Given the description of an element on the screen output the (x, y) to click on. 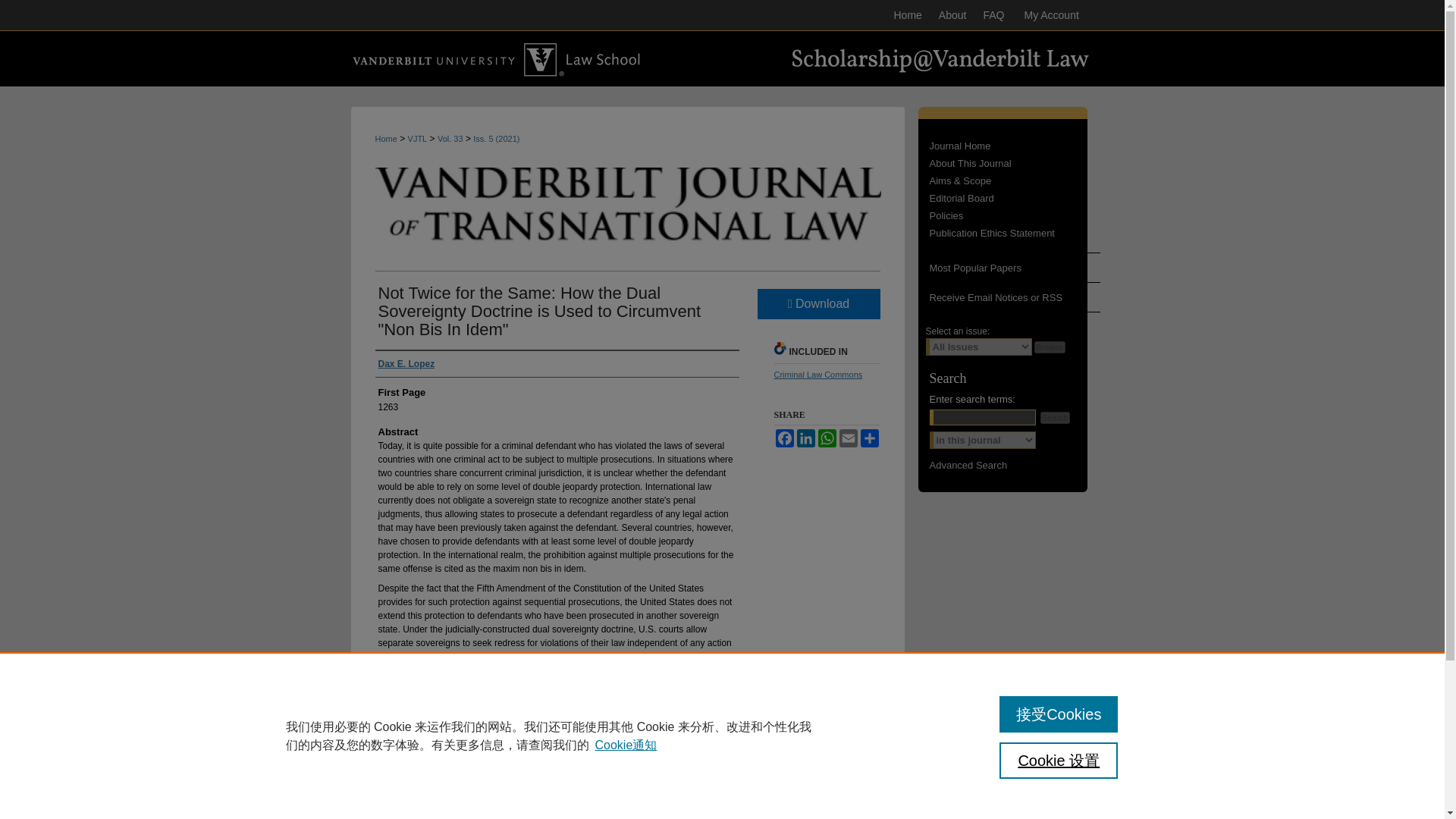
Home (907, 15)
Policies (1015, 215)
Vanderbilt Journal of Transnational Law (1015, 145)
Most Popular Papers (1008, 267)
Journal Home (1015, 145)
Search (1055, 417)
Editorial Board (1015, 197)
VJTL (417, 138)
WhatsApp (826, 438)
Browse (1049, 346)
View the top downloaded papers (1008, 267)
Browse (1049, 346)
Search (1055, 417)
About This Journal (1015, 163)
